Given the description of an element on the screen output the (x, y) to click on. 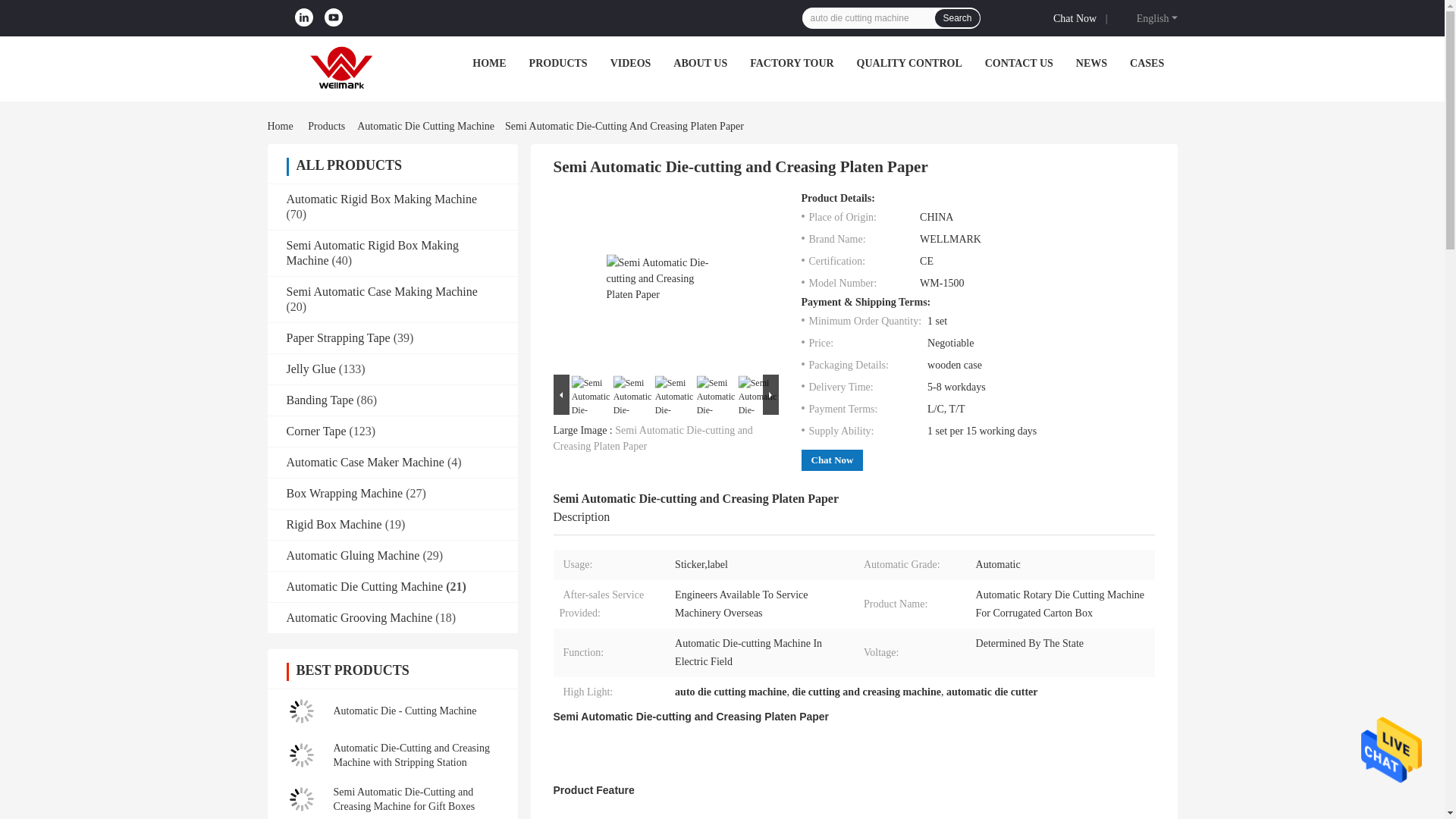
Chat Now (1077, 17)
QUALITY CONTROL (909, 62)
ABOUT US (699, 62)
FACTORY TOUR (790, 62)
Automatic Rigid Box Making Machine (381, 198)
CASES (1146, 62)
HOME (488, 62)
WELLMARK PACKAGING CO.,LTD. LinkedIn (303, 17)
PRODUCTS (558, 62)
Products (325, 126)
WELLMARK PACKAGING CO.,LTD. YouTube (333, 17)
NEWS (1090, 62)
Home (282, 126)
VIDEOS (630, 62)
Search (956, 18)
